Given the description of an element on the screen output the (x, y) to click on. 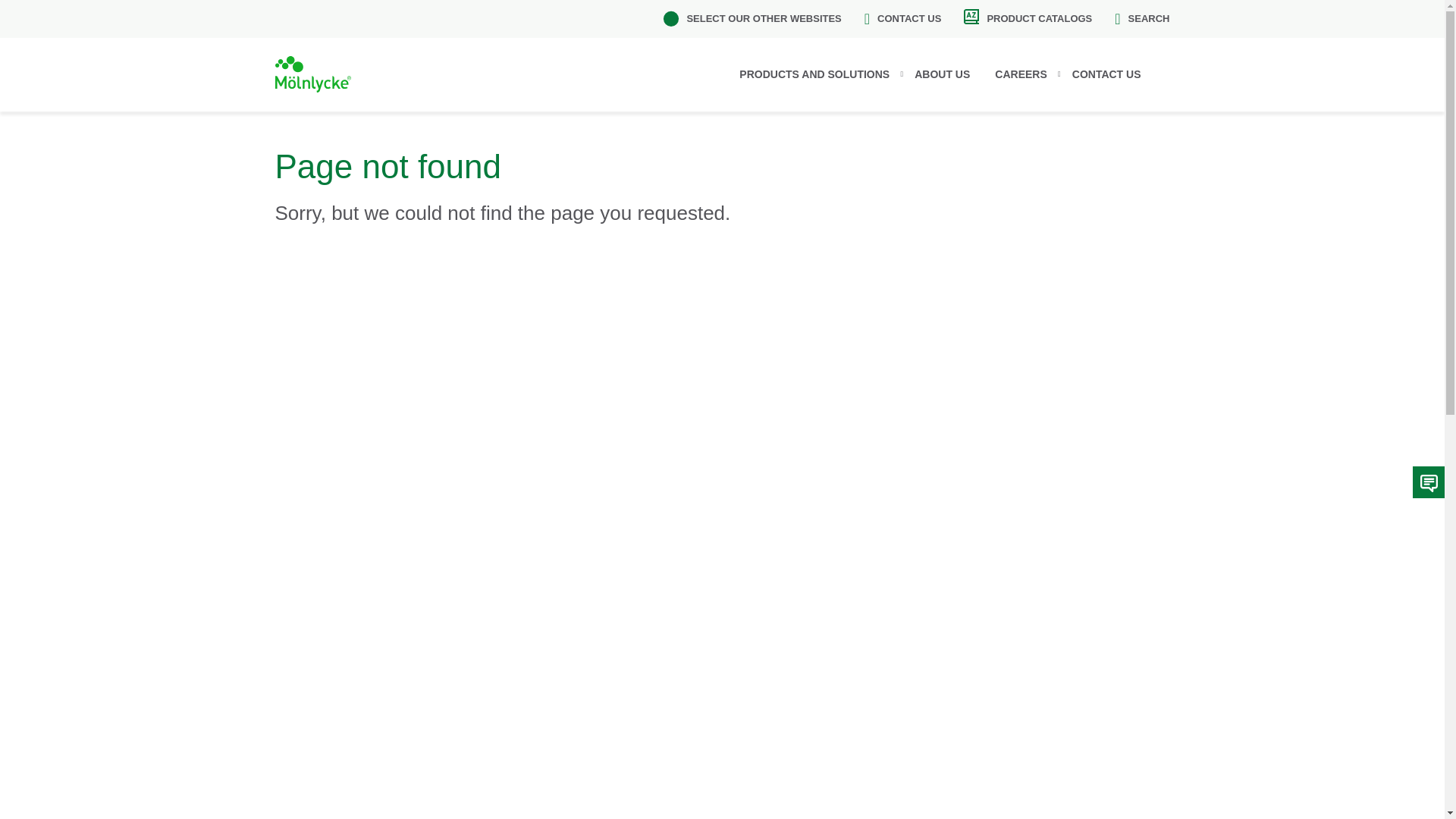
Go to startpage (312, 74)
CONTACT US (903, 18)
PRODUCTS AND SOLUTIONS (823, 74)
CAREERS (1029, 74)
PRODUCT CATALOGS (1027, 18)
CONTACT US (1114, 74)
SEARCH (1142, 18)
SELECT OUR OTHER WEBSITES (752, 18)
ABOUT US (951, 74)
